Given the description of an element on the screen output the (x, y) to click on. 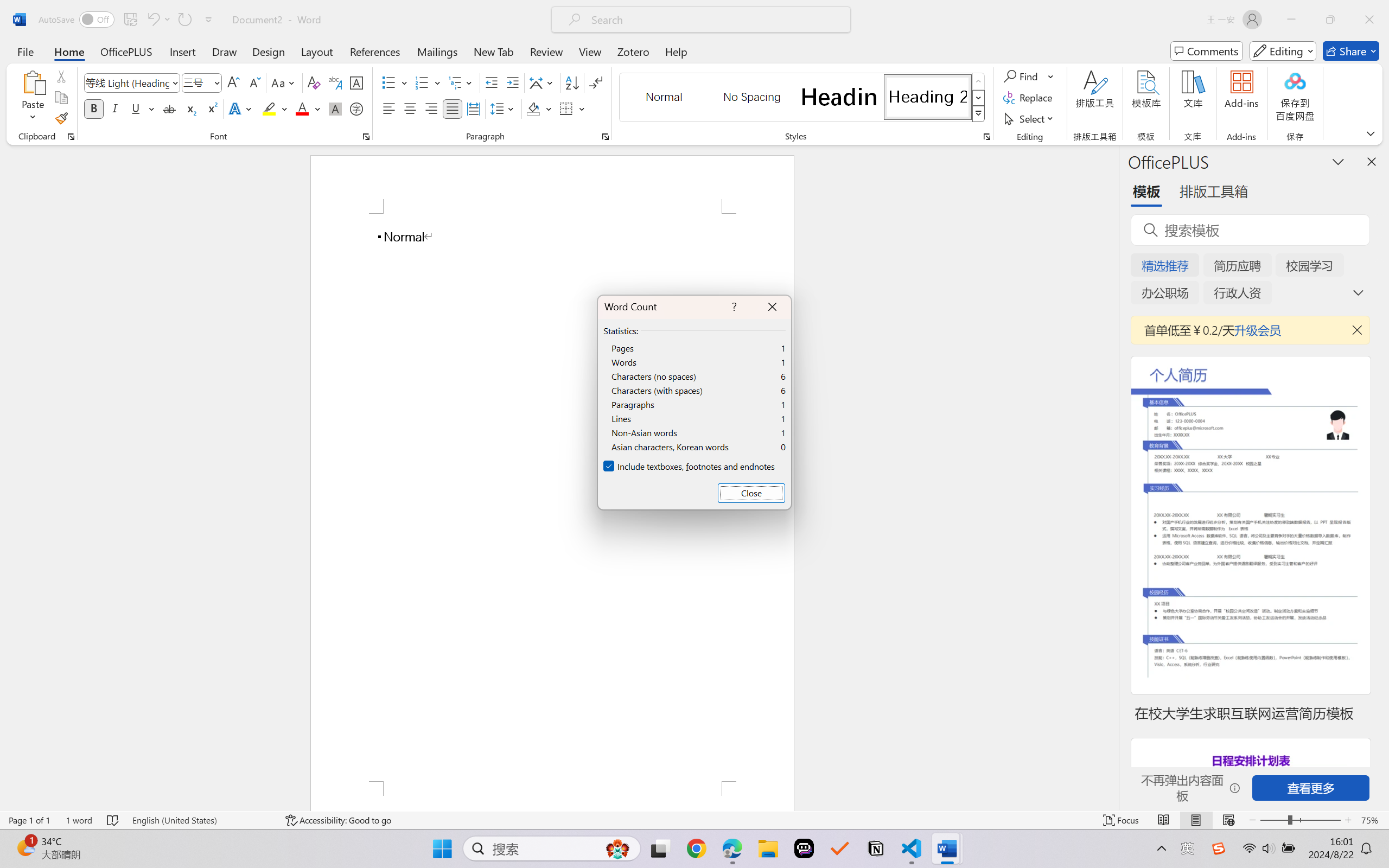
Class: Image (1218, 847)
Decrease Indent (491, 82)
Row up (978, 81)
File Tab (24, 51)
Insert (182, 51)
Font Color (308, 108)
Replace... (1029, 97)
Font Size (196, 82)
Google Chrome (696, 848)
